Given the description of an element on the screen output the (x, y) to click on. 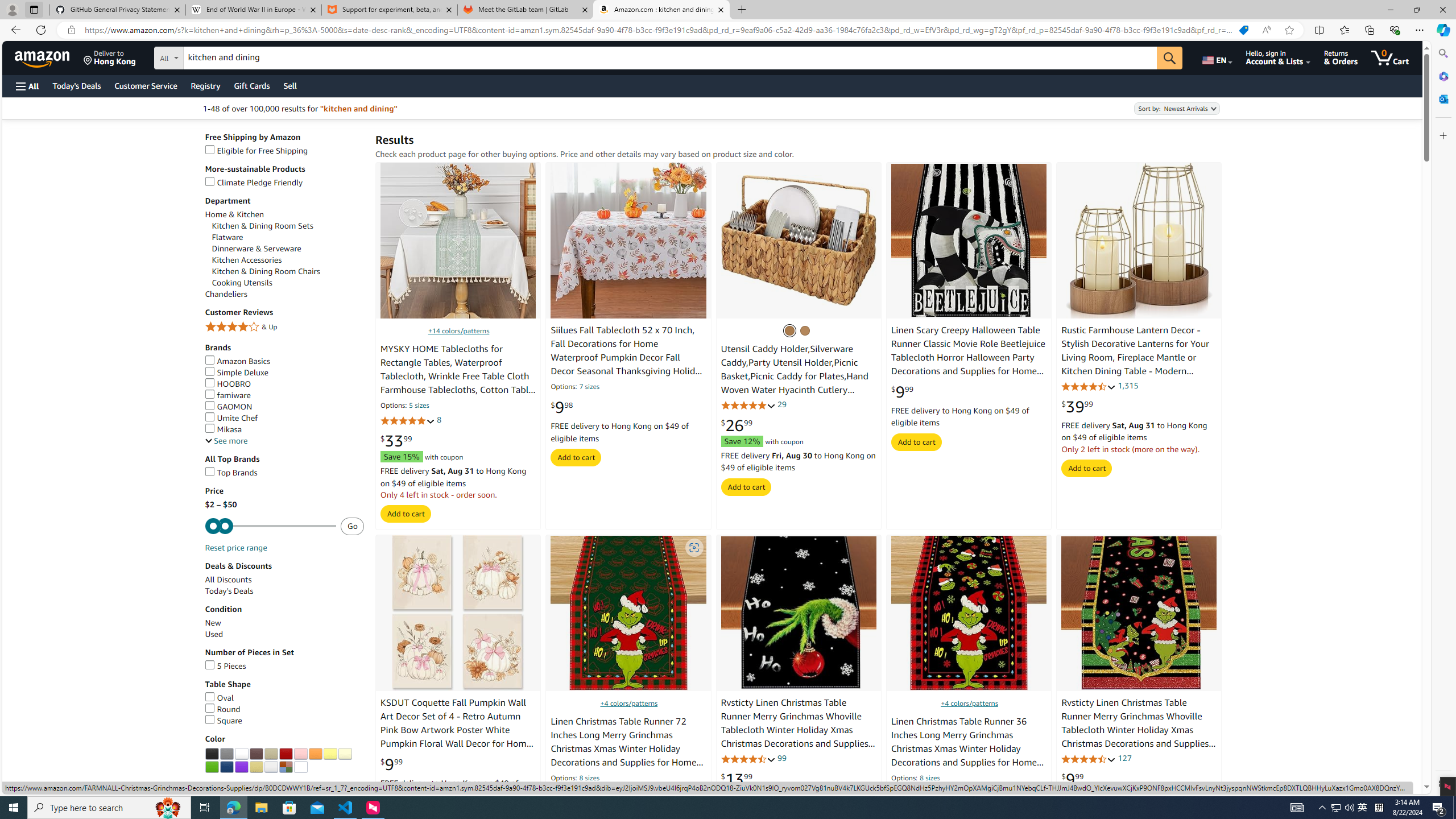
Brown (255, 753)
Multi (285, 766)
Square (284, 720)
Reset price range (236, 547)
See more, Brands (226, 440)
$26.99 (736, 425)
AutomationID: p_n_feature_twenty_browse-bin/3254114011 (300, 766)
Today's Deals (229, 590)
Choose a language for shopping. (1216, 57)
Go (1169, 57)
Registry (205, 85)
